Given the description of an element on the screen output the (x, y) to click on. 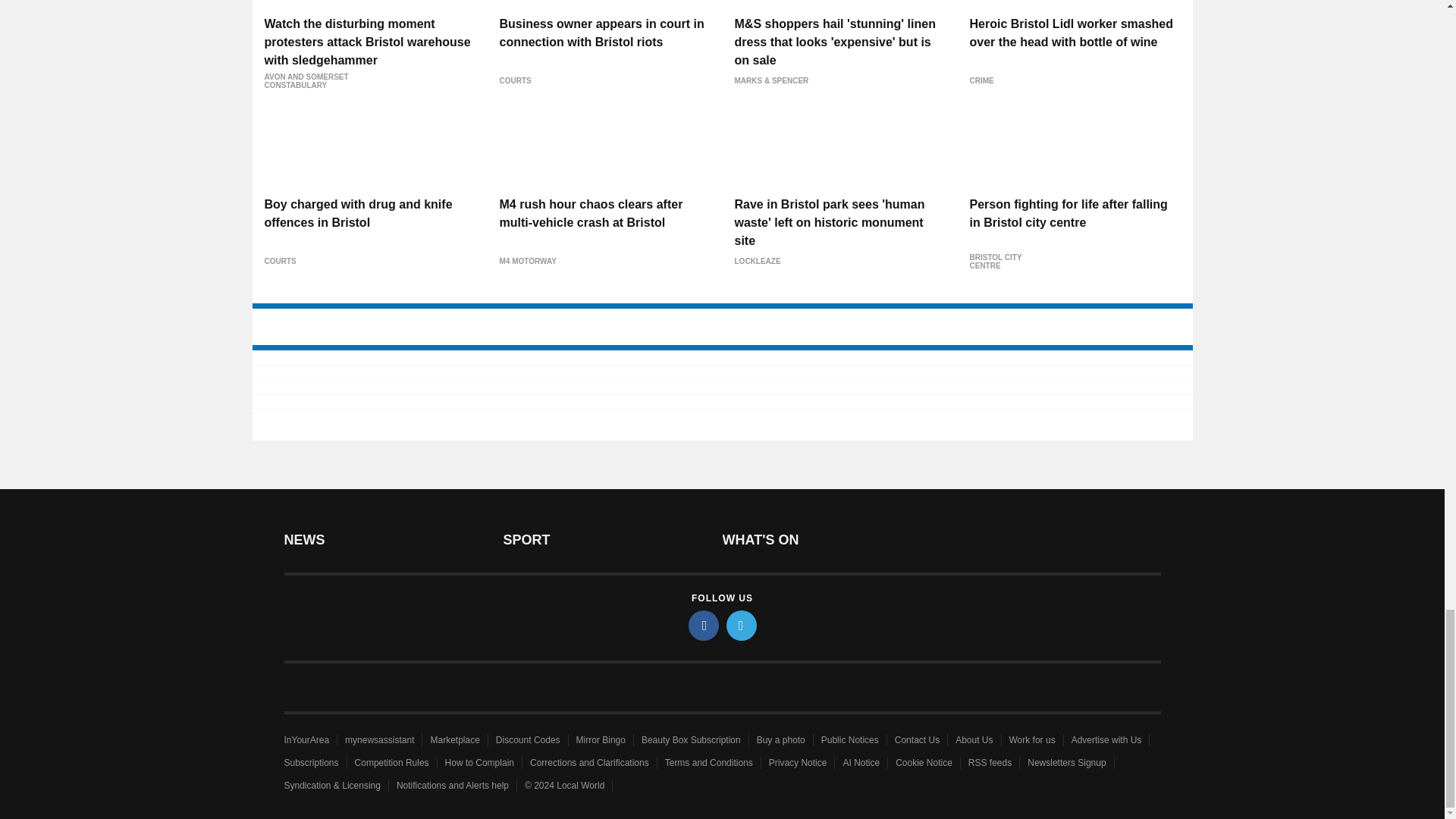
twitter (741, 625)
facebook (703, 625)
